Given the description of an element on the screen output the (x, y) to click on. 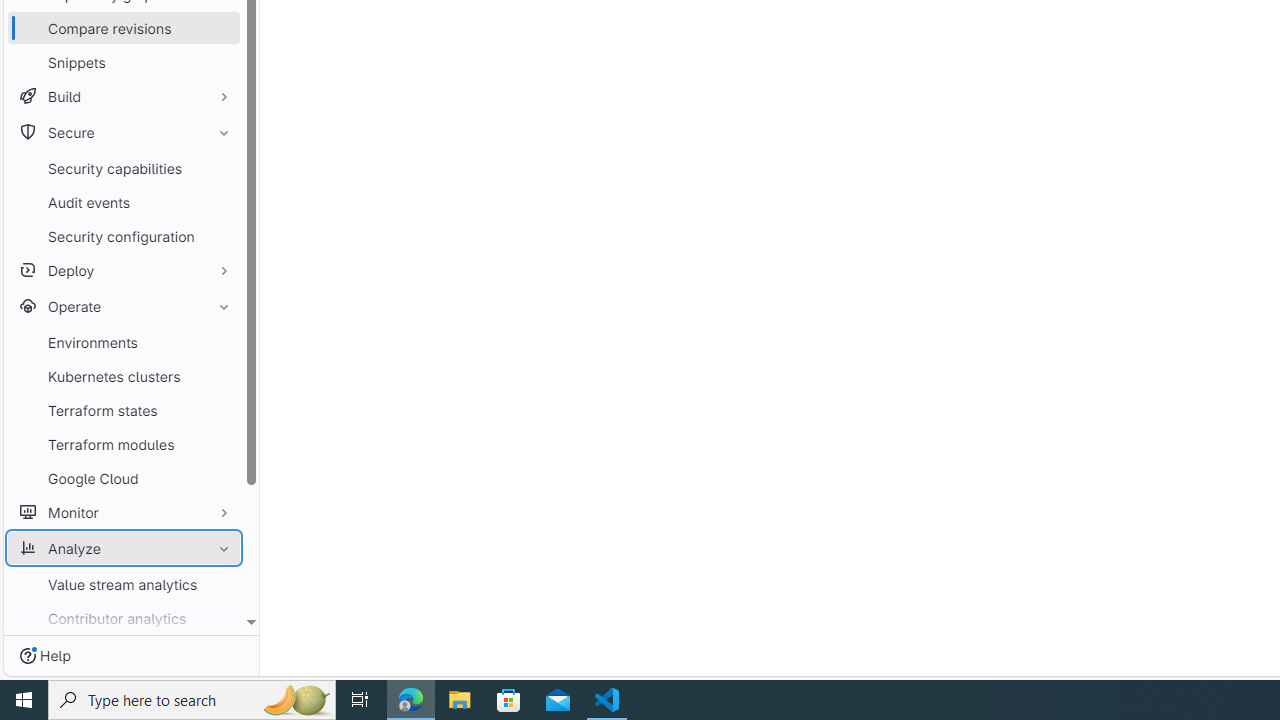
Pin Contributor analytics (219, 618)
Security capabilities (123, 168)
Audit events (123, 201)
Deploy (123, 270)
Pin Security configuration (219, 236)
Compare revisions (123, 28)
Monitor (123, 512)
Pin Snippets (219, 61)
Google Cloud (123, 478)
Environments (123, 342)
Audit events (123, 201)
Terraform states (123, 409)
Value stream analytics (123, 584)
Pin Audit events (219, 202)
